Given the description of an element on the screen output the (x, y) to click on. 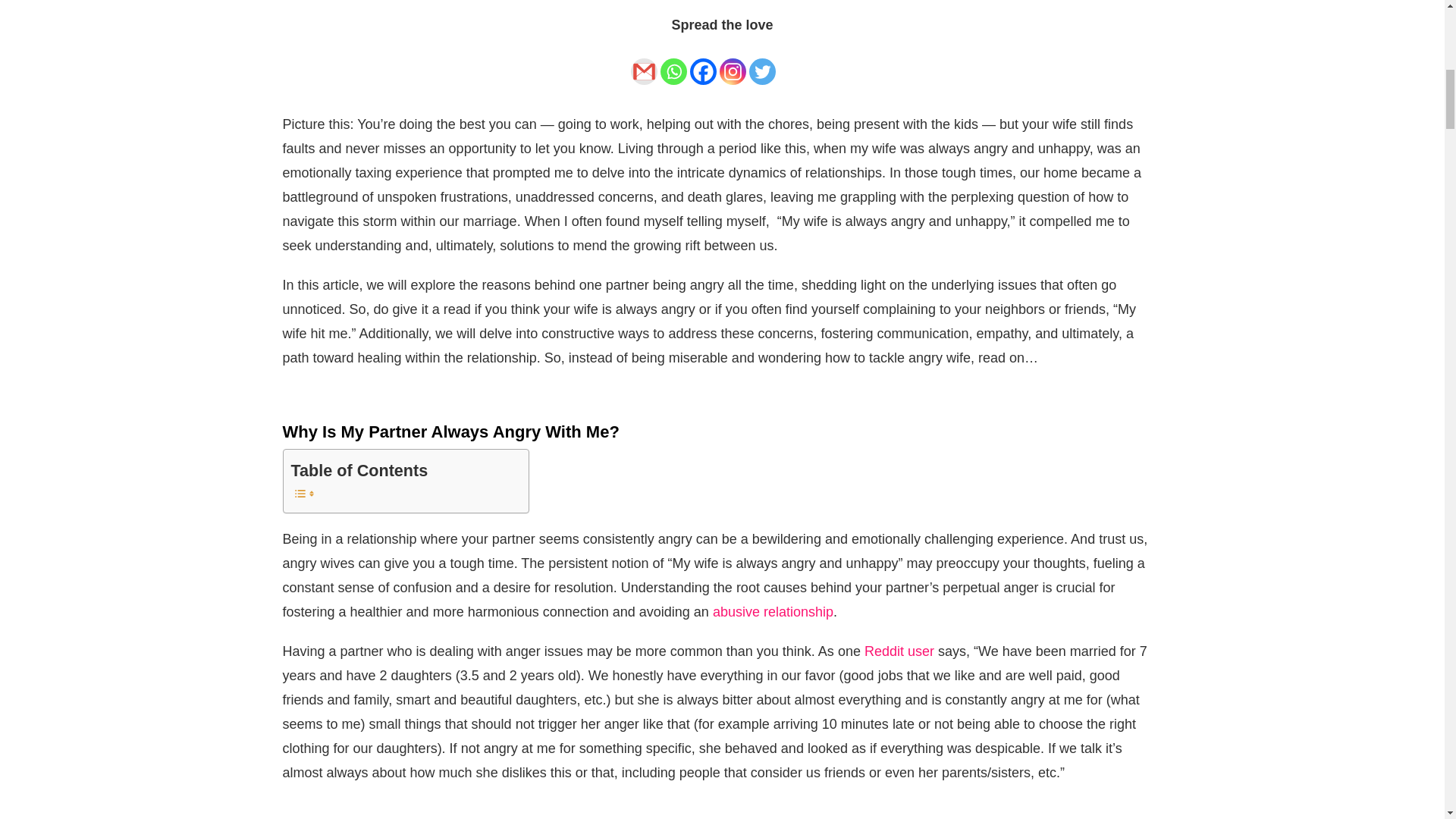
Whatsapp (674, 62)
Google Gmail (644, 62)
Instagram (732, 62)
Twitter (762, 62)
Facebook (703, 62)
